Given the description of an element on the screen output the (x, y) to click on. 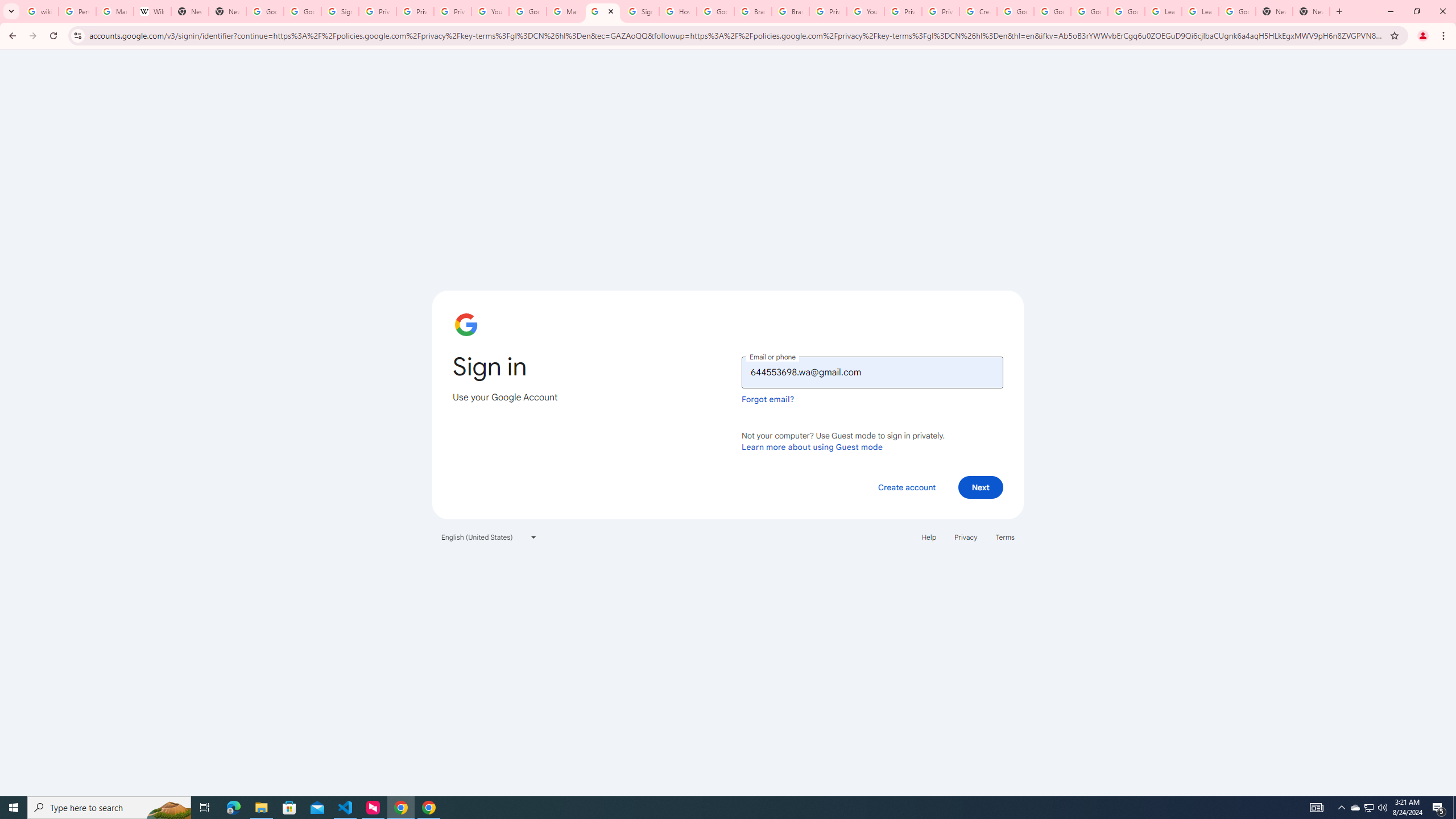
Brand Resource Center (753, 11)
Brand Resource Center (790, 11)
Learn more about using Guest mode (812, 446)
Google Account Help (1052, 11)
Email or phone (872, 372)
Next (980, 486)
YouTube (865, 11)
